Given the description of an element on the screen output the (x, y) to click on. 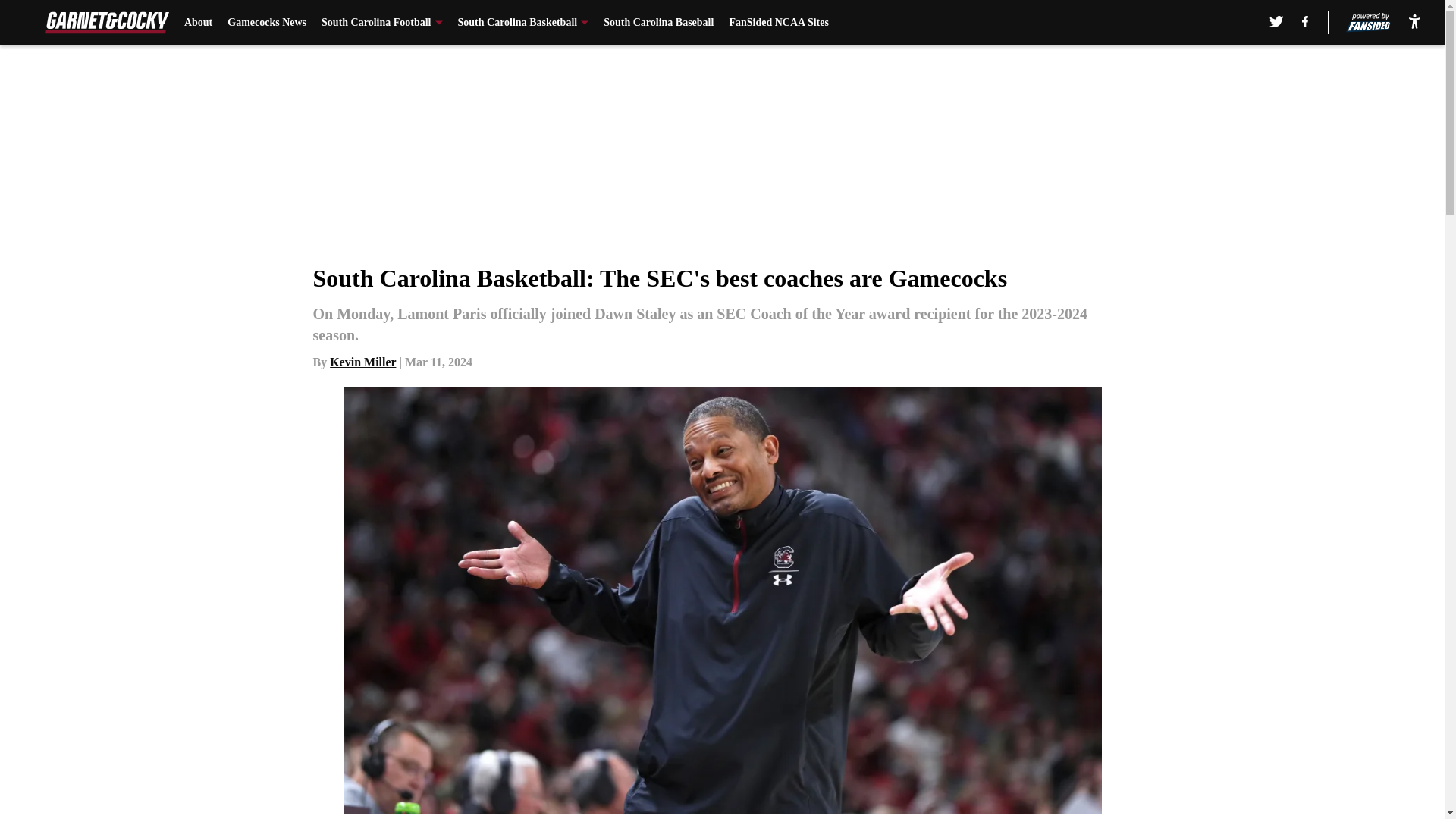
South Carolina Baseball (658, 22)
FanSided NCAA Sites (778, 22)
Kevin Miller (363, 361)
About (198, 22)
Gamecocks News (266, 22)
